Given the description of an element on the screen output the (x, y) to click on. 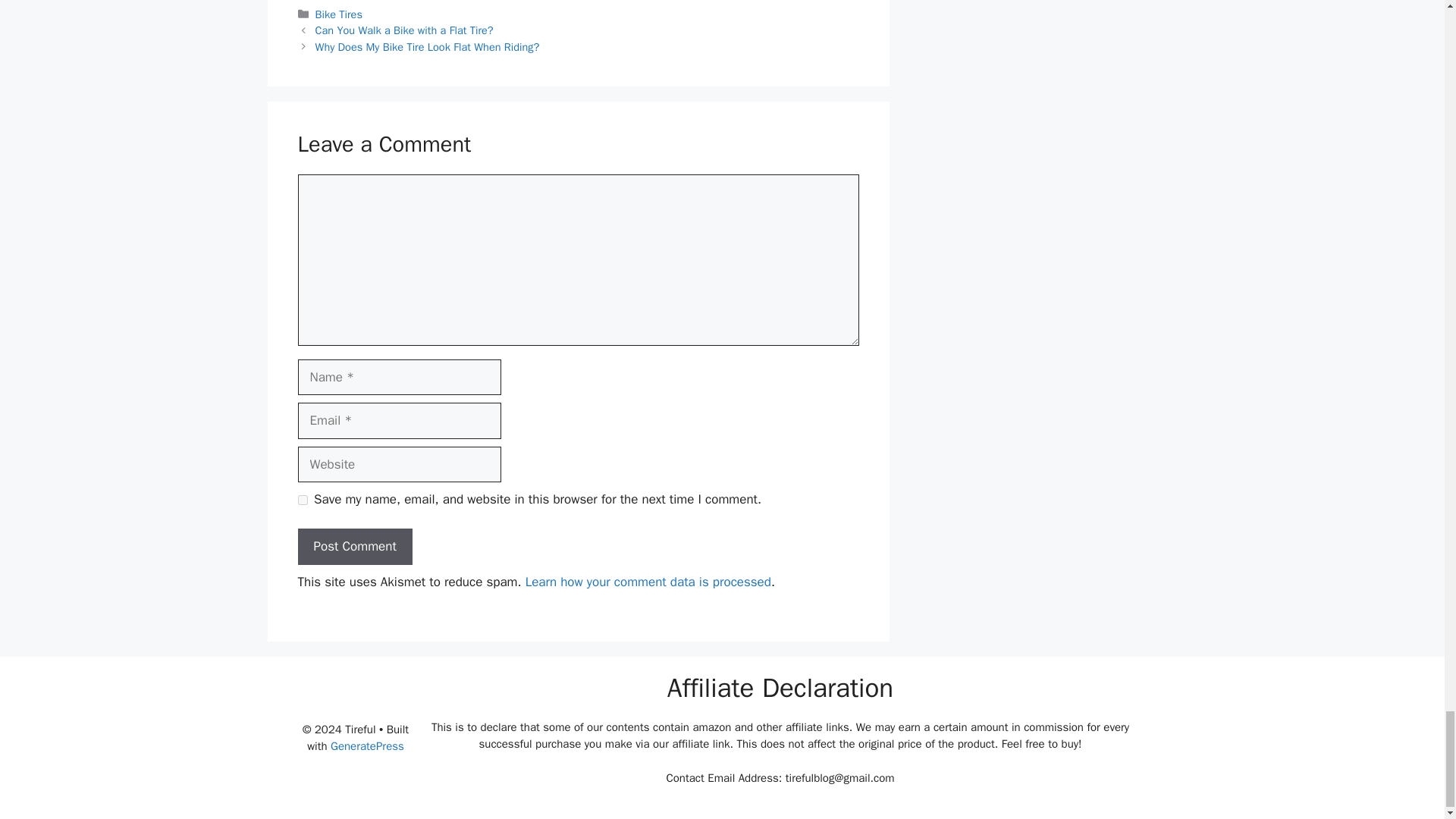
Post Comment (354, 546)
Post Comment (354, 546)
Why Does My Bike Tire Look Flat When Riding? (427, 47)
Can You Walk a Bike with a Flat Tire? (404, 29)
yes (302, 500)
Bike Tires (338, 14)
Learn how your comment data is processed (648, 581)
